Given the description of an element on the screen output the (x, y) to click on. 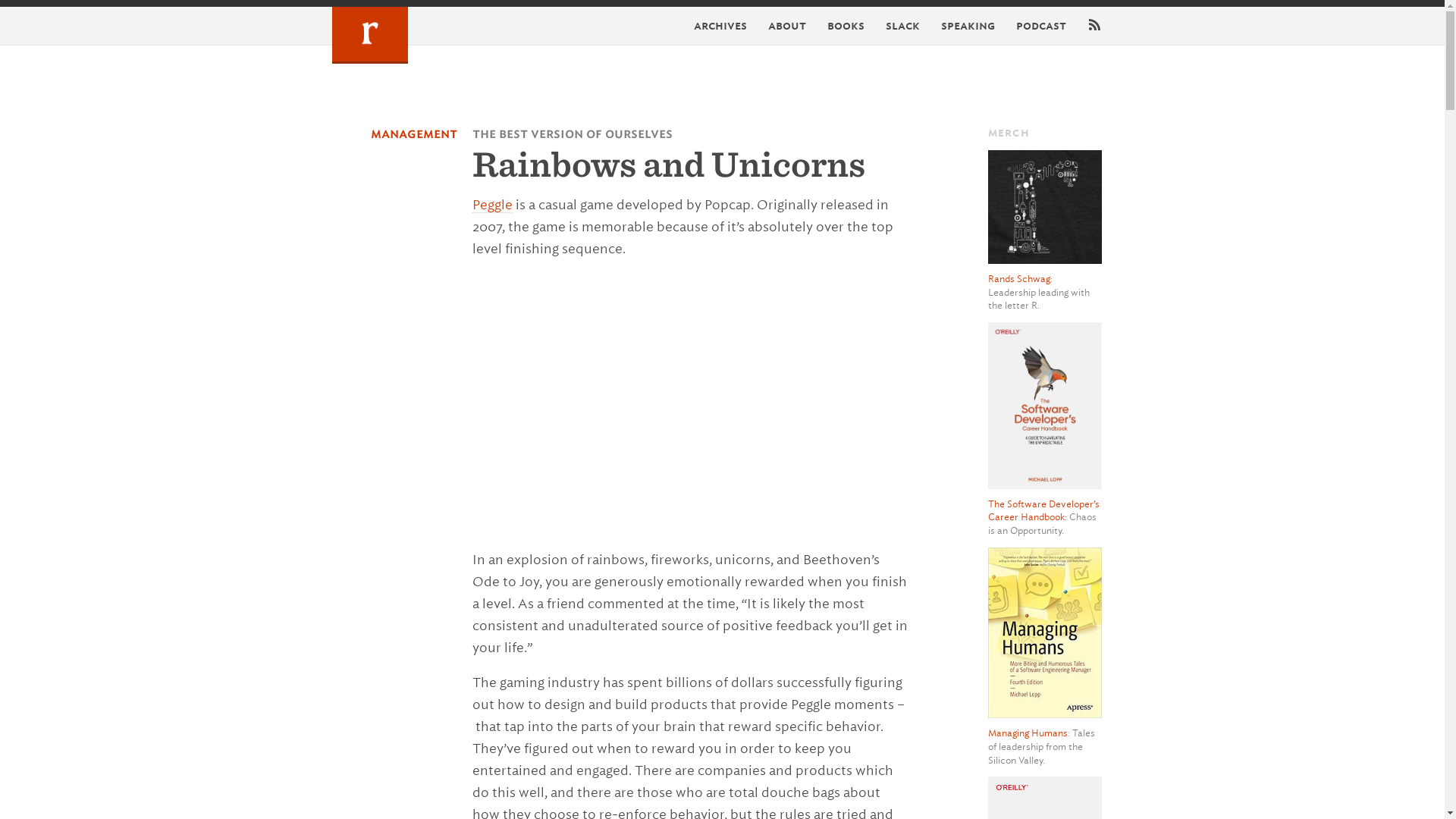
Peggle 2: Extreme Fever Win! (698, 400)
Peggle (491, 204)
about (777, 25)
books (835, 25)
slack (893, 25)
Rands Schwag (1018, 278)
Managing Humans (1027, 733)
archives (710, 25)
speaking (957, 25)
management (413, 133)
